Given the description of an element on the screen output the (x, y) to click on. 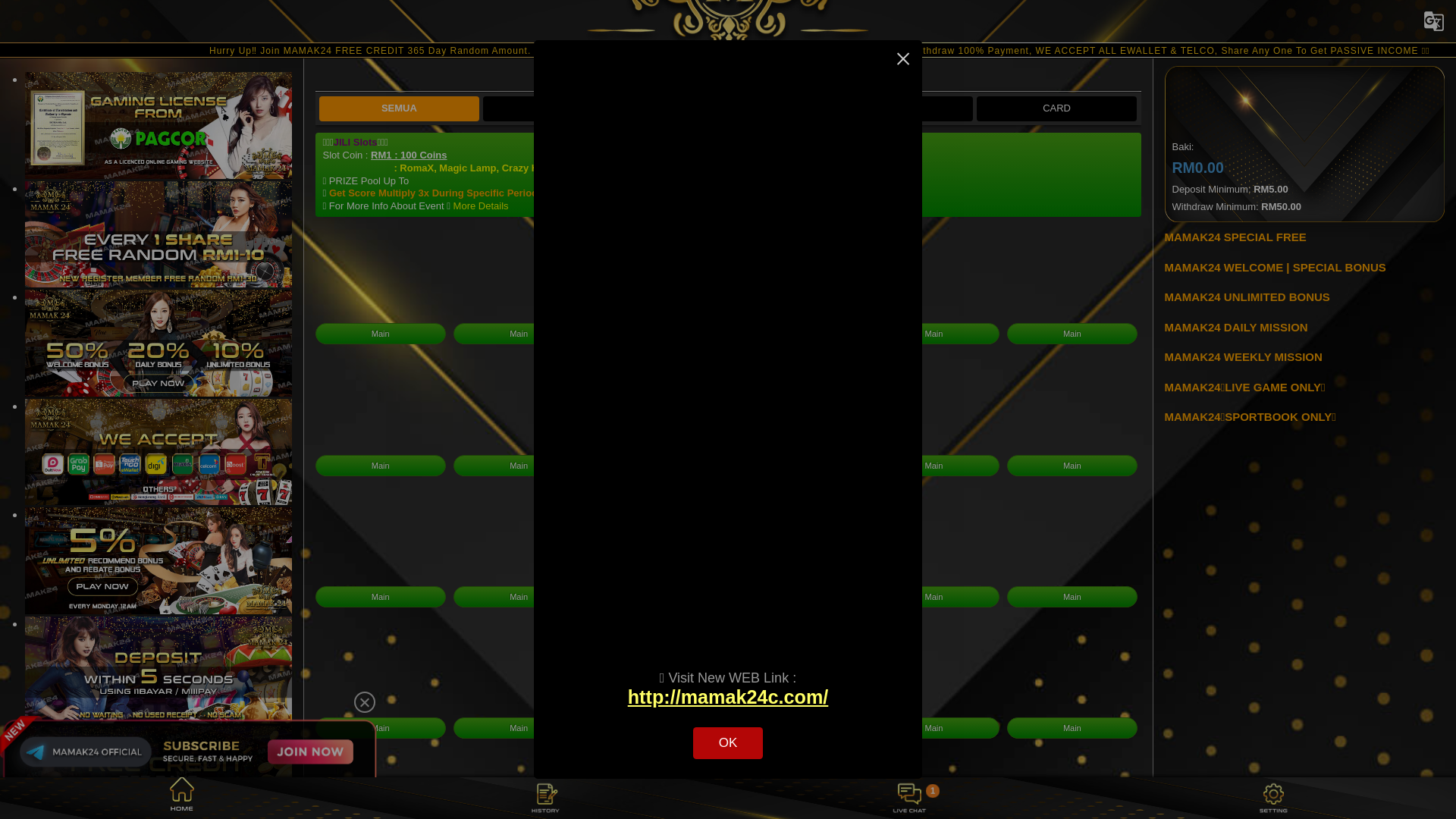
SEGARKAN Element type: text (1387, 198)
CUCI Element type: text (1387, 171)
TOP UP Element type: text (1387, 143)
OK Element type: text (728, 742)
http://mamak24c.com/ Element type: text (727, 697)
DAFTAR Element type: text (1361, 101)
LOG MASUK Element type: text (1234, 101)
